Given the description of an element on the screen output the (x, y) to click on. 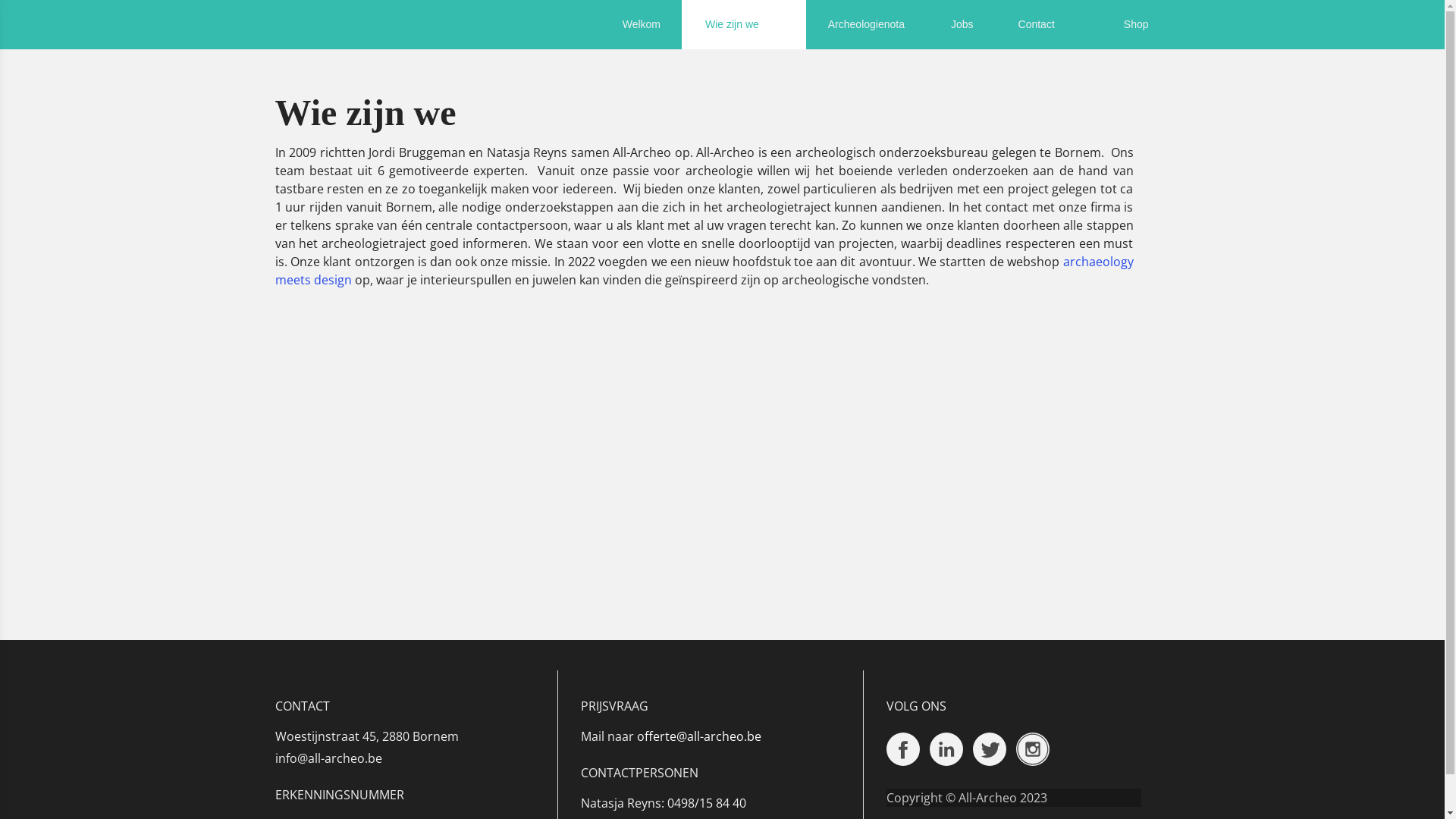
Archeologienota Element type: text (865, 24)
Jobs Element type: text (961, 24)
Wie zijn we Element type: text (743, 24)
offerte@all-archeo.be Element type: text (699, 736)
archaeology meets design Element type: text (703, 270)
Shop Element type: text (1135, 24)
Welkom Element type: text (640, 24)
Contact Element type: text (1047, 24)
